Given the description of an element on the screen output the (x, y) to click on. 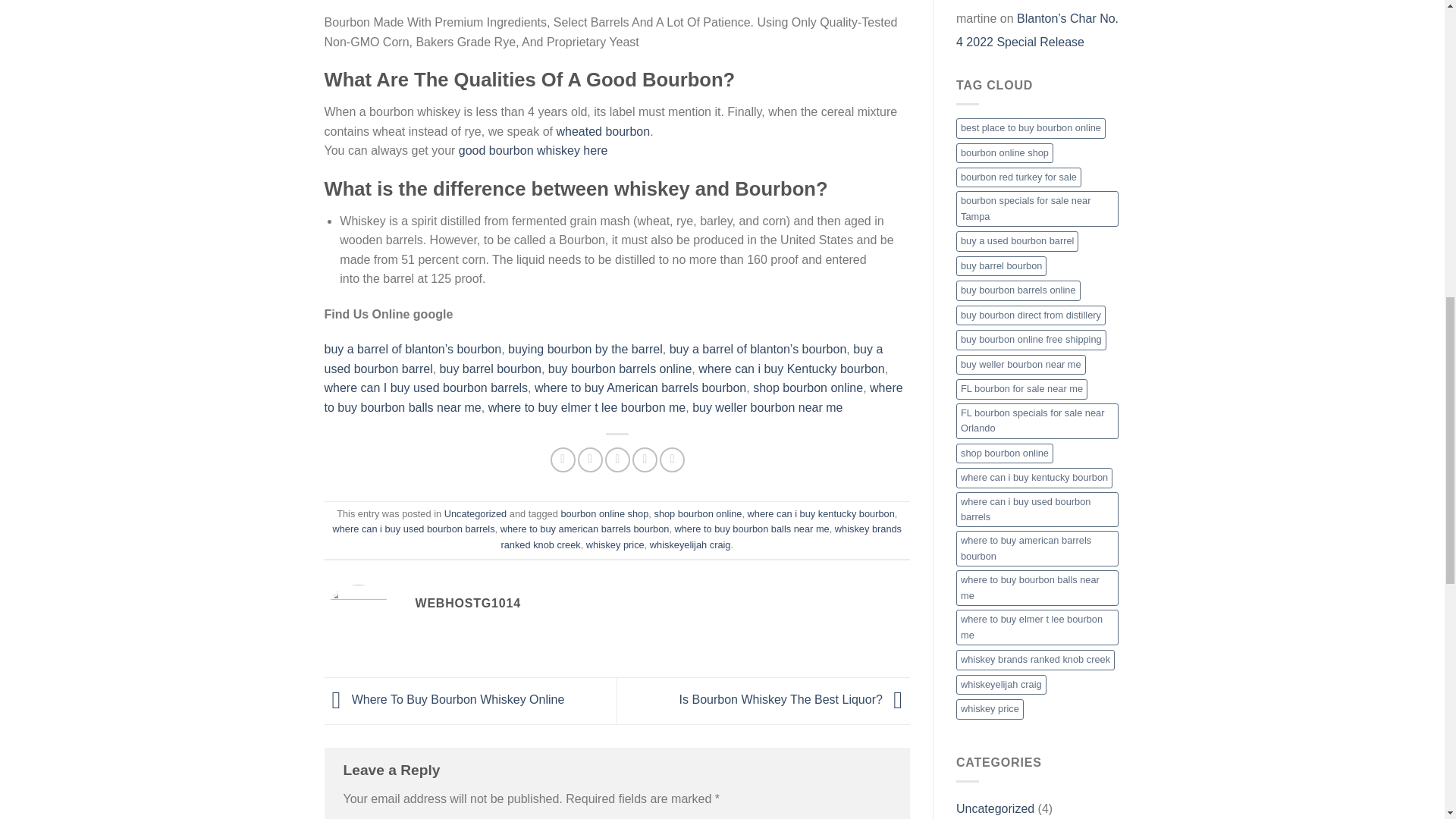
where can I buy used bourbon barrels (426, 387)
good bourbon whiskey (518, 150)
buy barrel bourbon (490, 368)
buy weller bourbon near me (768, 407)
where to buy American barrels bourbon (639, 387)
buying bourbon by the barrel (585, 349)
where to buy elmer t lee bourbon me (586, 407)
wheated bourbon (601, 131)
buy bourbon barrels online (619, 368)
buy a used bourbon barrel (603, 359)
where to buy bourbon balls near me (613, 397)
shop bourbon online (807, 387)
here (595, 150)
where can i buy Kentucky bourbon (790, 368)
